Given the description of an element on the screen output the (x, y) to click on. 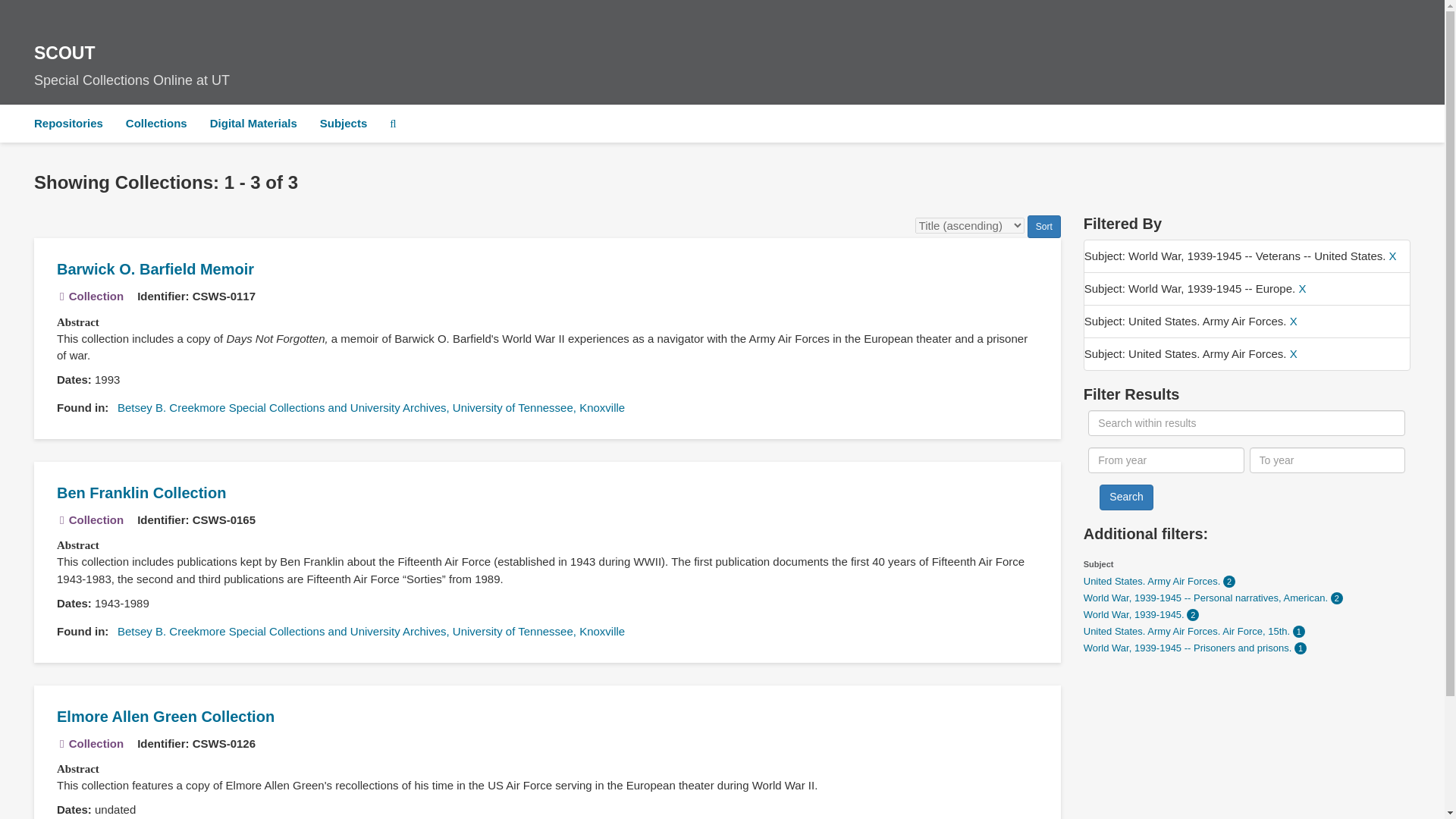
Barwick O. Barfield Memoir (154, 269)
United States. Army Air Forces. Air Force, 15th. (1187, 631)
translation missing: en.dates (71, 809)
translation missing: en.dates (71, 379)
Sort (1044, 226)
Search (1126, 497)
World War, 1939-1945. (1135, 614)
Repositories (69, 123)
Filter By 'United States. Army Air Forces. Air Force, 15th.' (1187, 631)
